Given the description of an element on the screen output the (x, y) to click on. 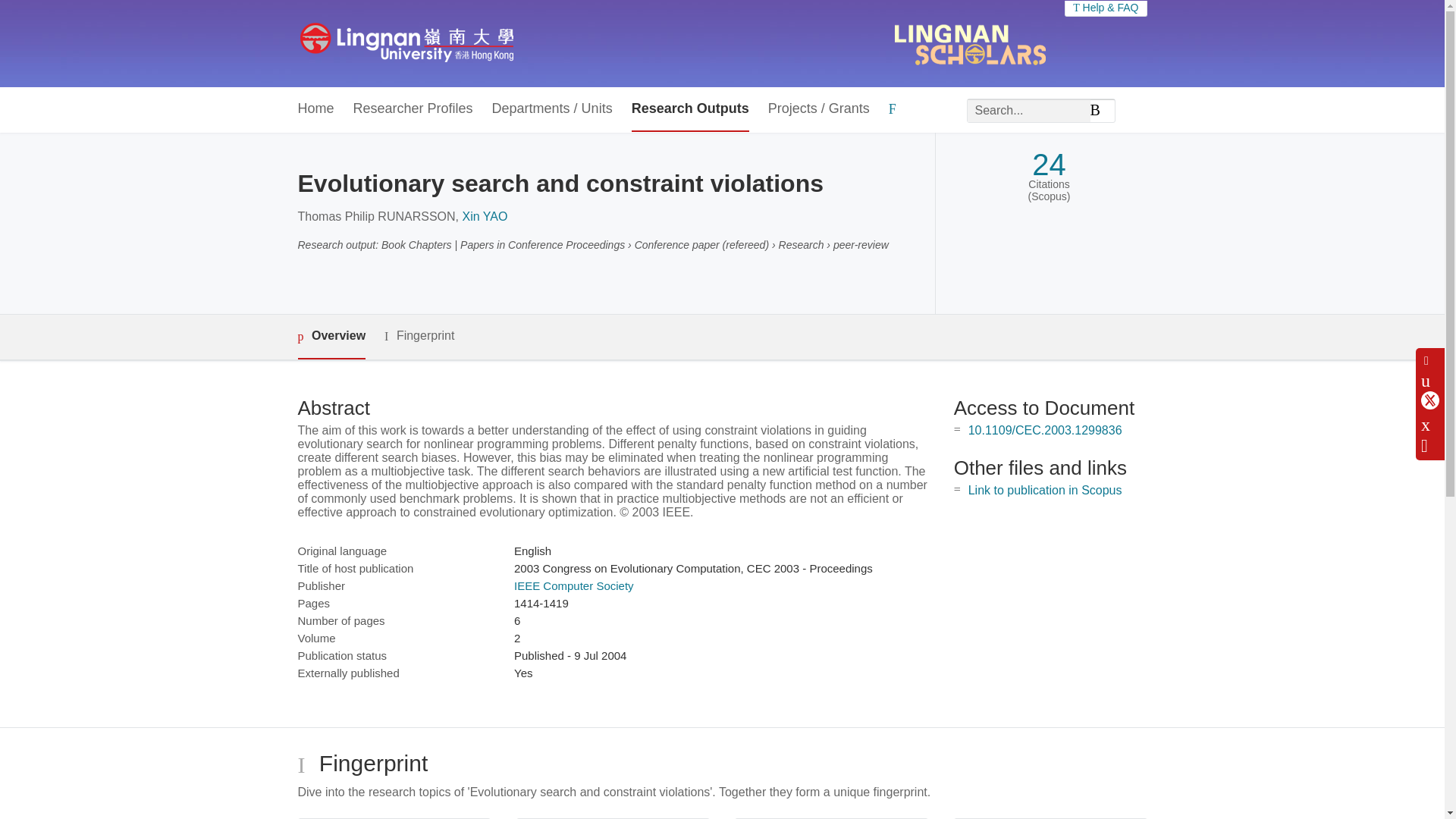
Overview (331, 336)
IEEE Computer Society (573, 585)
Lingnan Scholars Home (406, 43)
Fingerprint (419, 335)
Link to publication in Scopus (1045, 490)
Home (315, 108)
24 (1048, 164)
Xin YAO (483, 215)
Researcher Profiles (413, 108)
Research Outputs (690, 108)
